Given the description of an element on the screen output the (x, y) to click on. 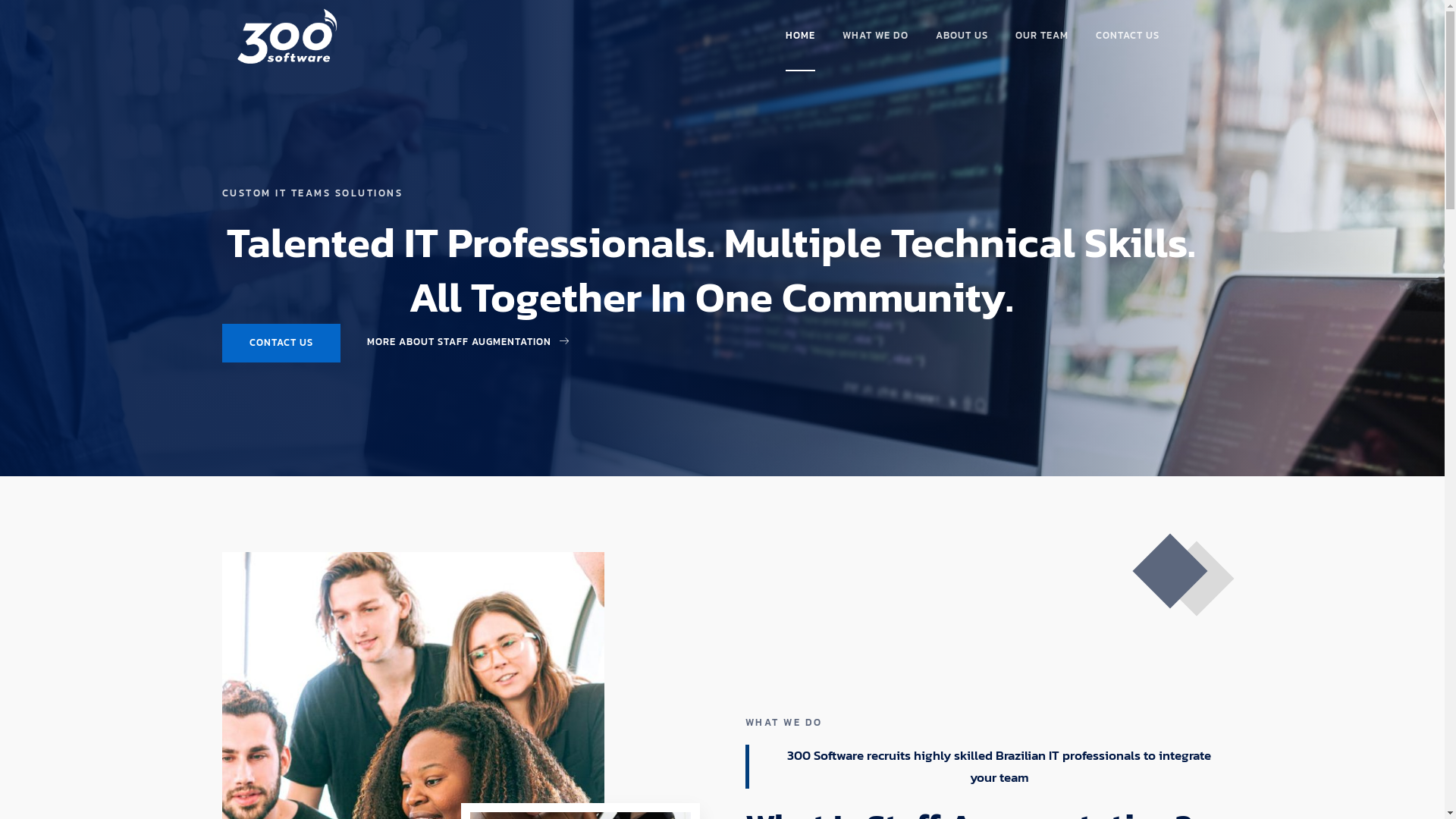
HOME Element type: text (800, 37)
CONTACT US Element type: text (280, 342)
logo300_263x150 Element type: hover (286, 36)
WHAT WE DO Element type: text (875, 37)
MORE ABOUT STAFF AUGMENTATION Element type: text (467, 341)
OUR TEAM Element type: text (1041, 37)
CONTACT US Element type: text (1127, 37)
ABOUT US Element type: text (961, 37)
